Given the description of an element on the screen output the (x, y) to click on. 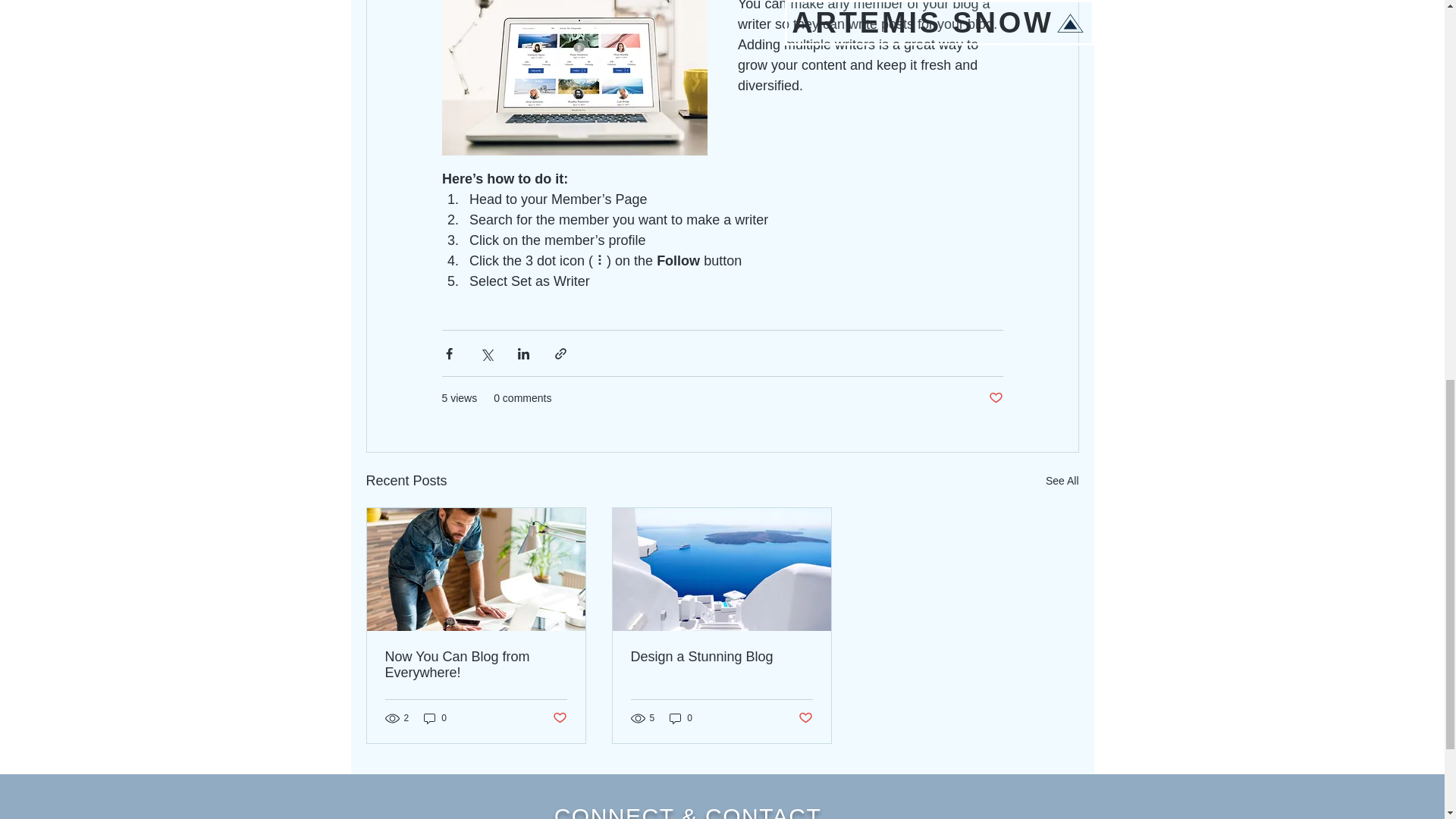
See All (1061, 481)
Now You Can Blog from Everywhere! (476, 664)
0 (681, 718)
Design a Stunning Blog (721, 657)
Post not marked as liked (558, 717)
Post not marked as liked (804, 717)
0 (435, 718)
Post not marked as liked (995, 398)
